Given the description of an element on the screen output the (x, y) to click on. 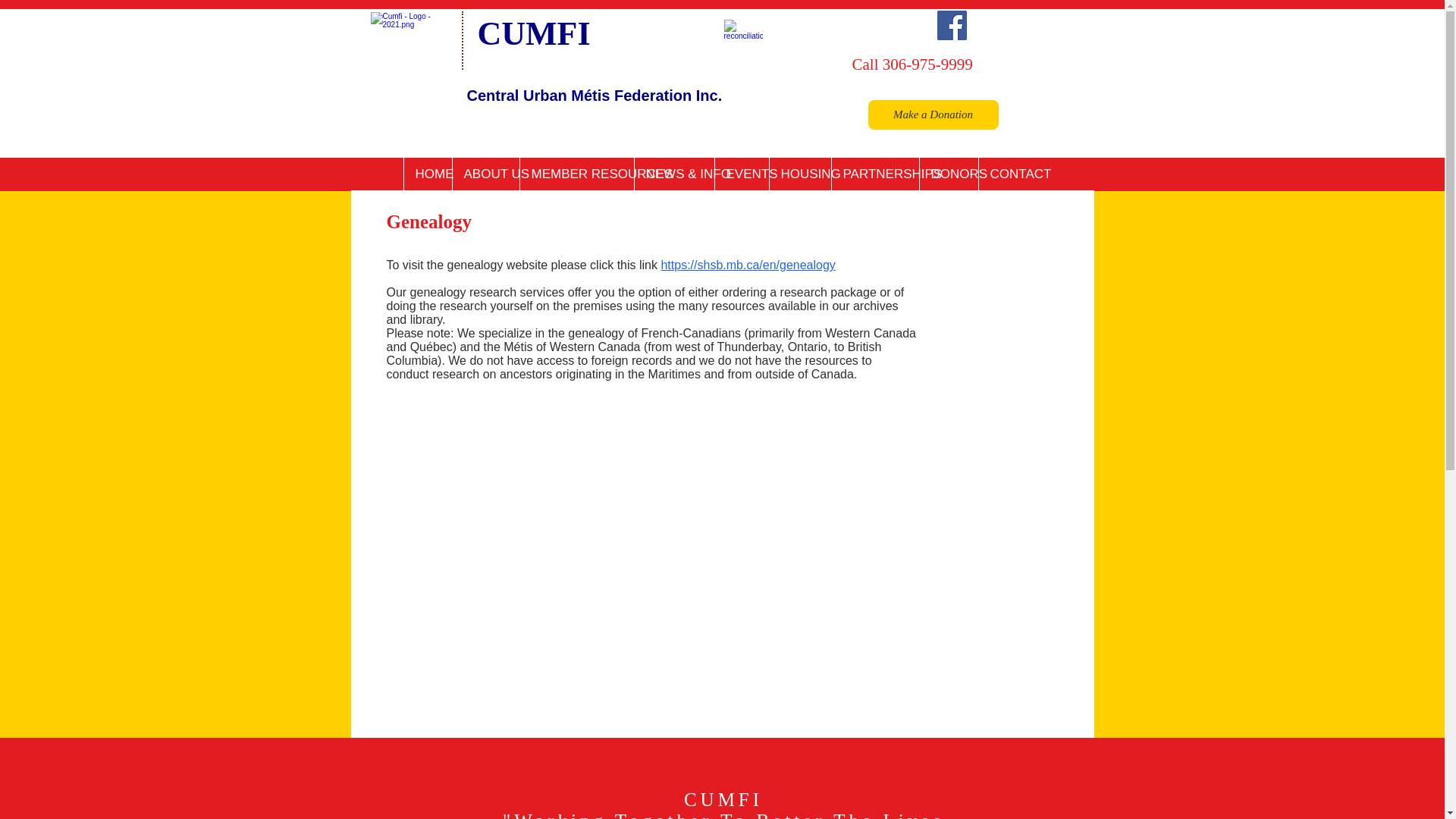
HOME (427, 174)
EVENTS (741, 174)
PARTNERSHIPS (874, 174)
Make a Donation (932, 114)
CONTACT (1010, 174)
DONORS (948, 174)
